Given the description of an element on the screen output the (x, y) to click on. 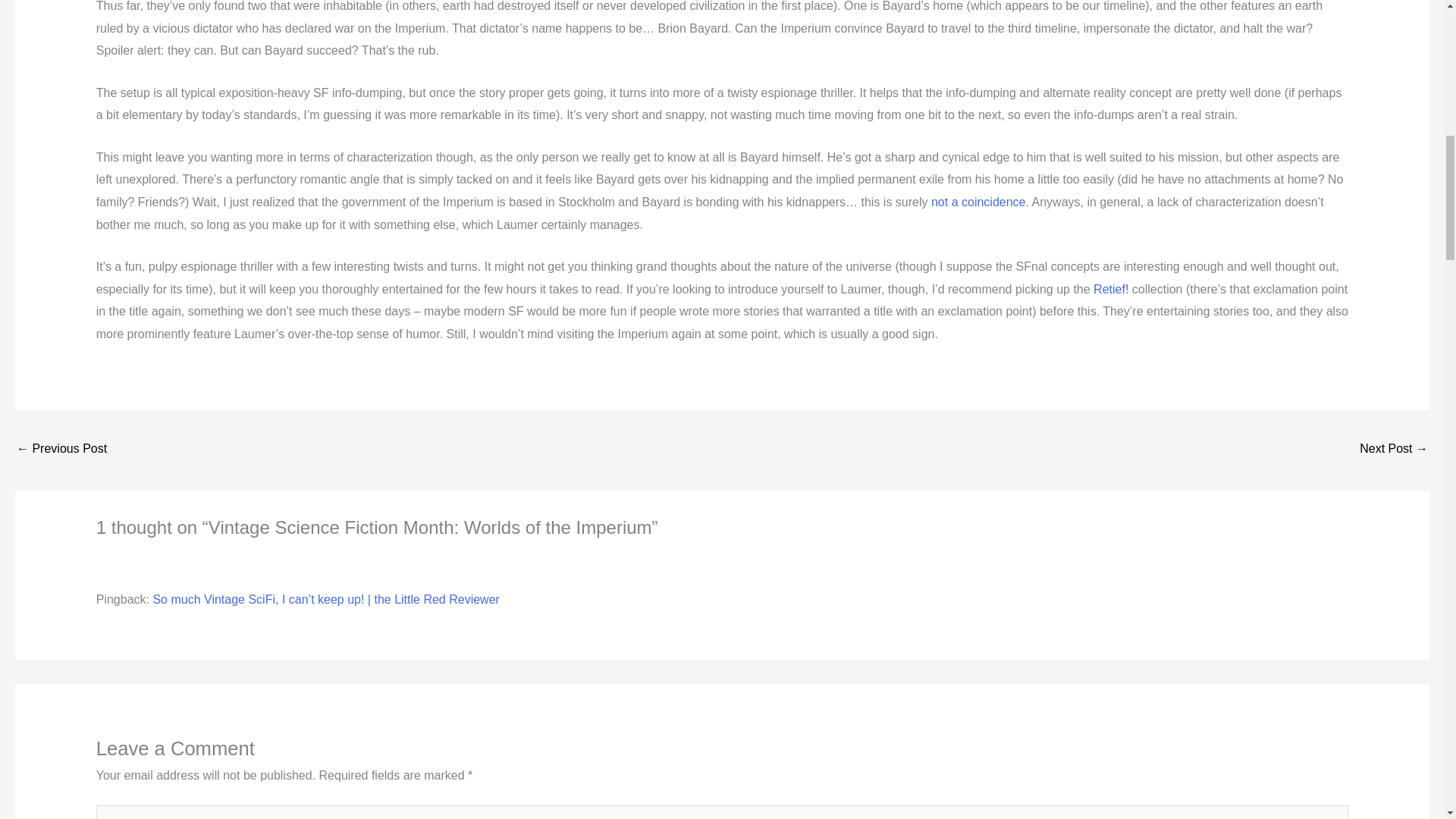
Vintage Science Fiction Month: Killdozer! (61, 449)
not a coincidence (978, 201)
2020 Kaedrin Movie Awards (1393, 449)
Retief! (1110, 288)
